Given the description of an element on the screen output the (x, y) to click on. 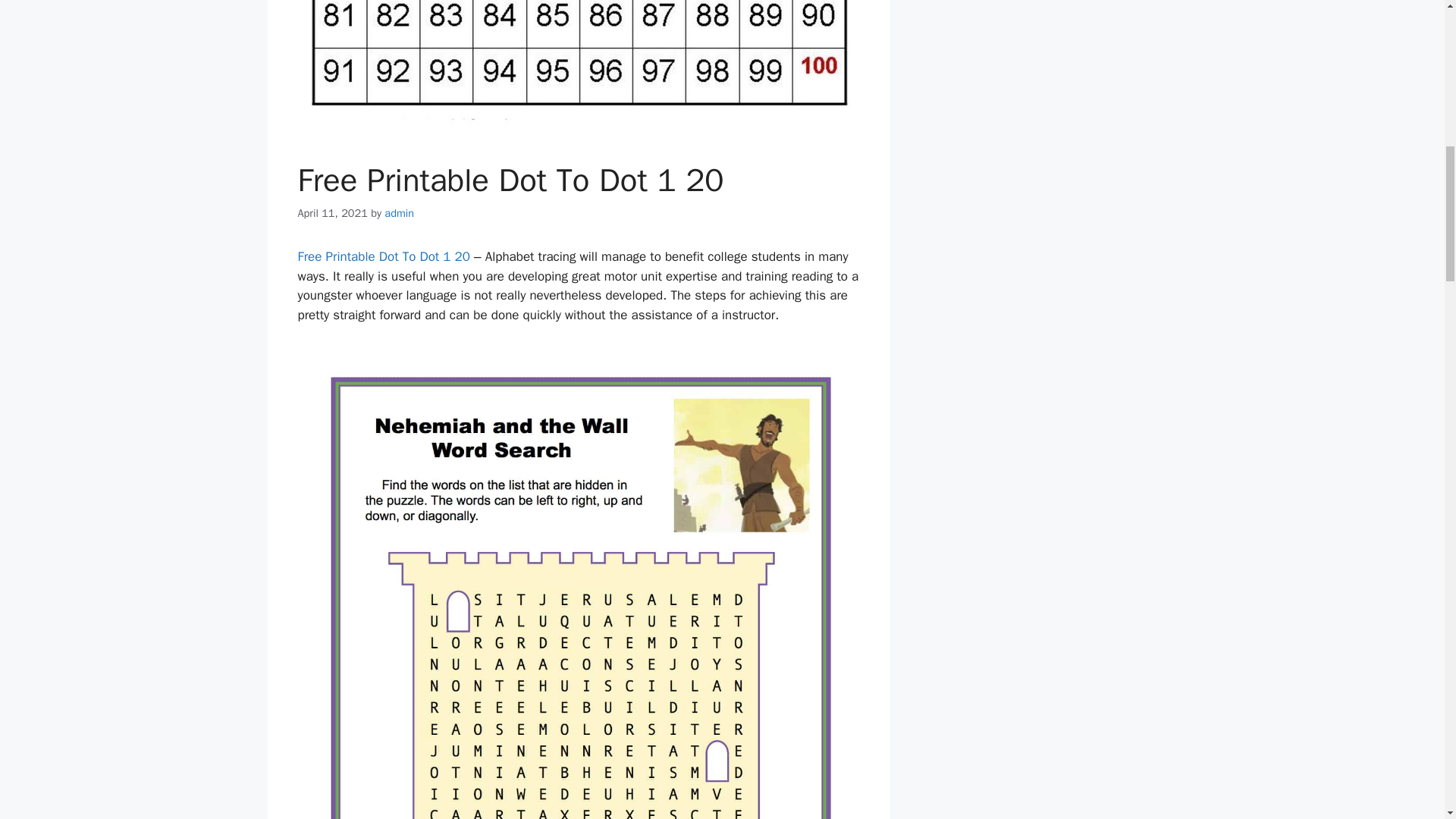
Free Printable Dot To Dot 1 20 (383, 256)
View all posts by admin (398, 213)
admin (398, 213)
